Given the description of an element on the screen output the (x, y) to click on. 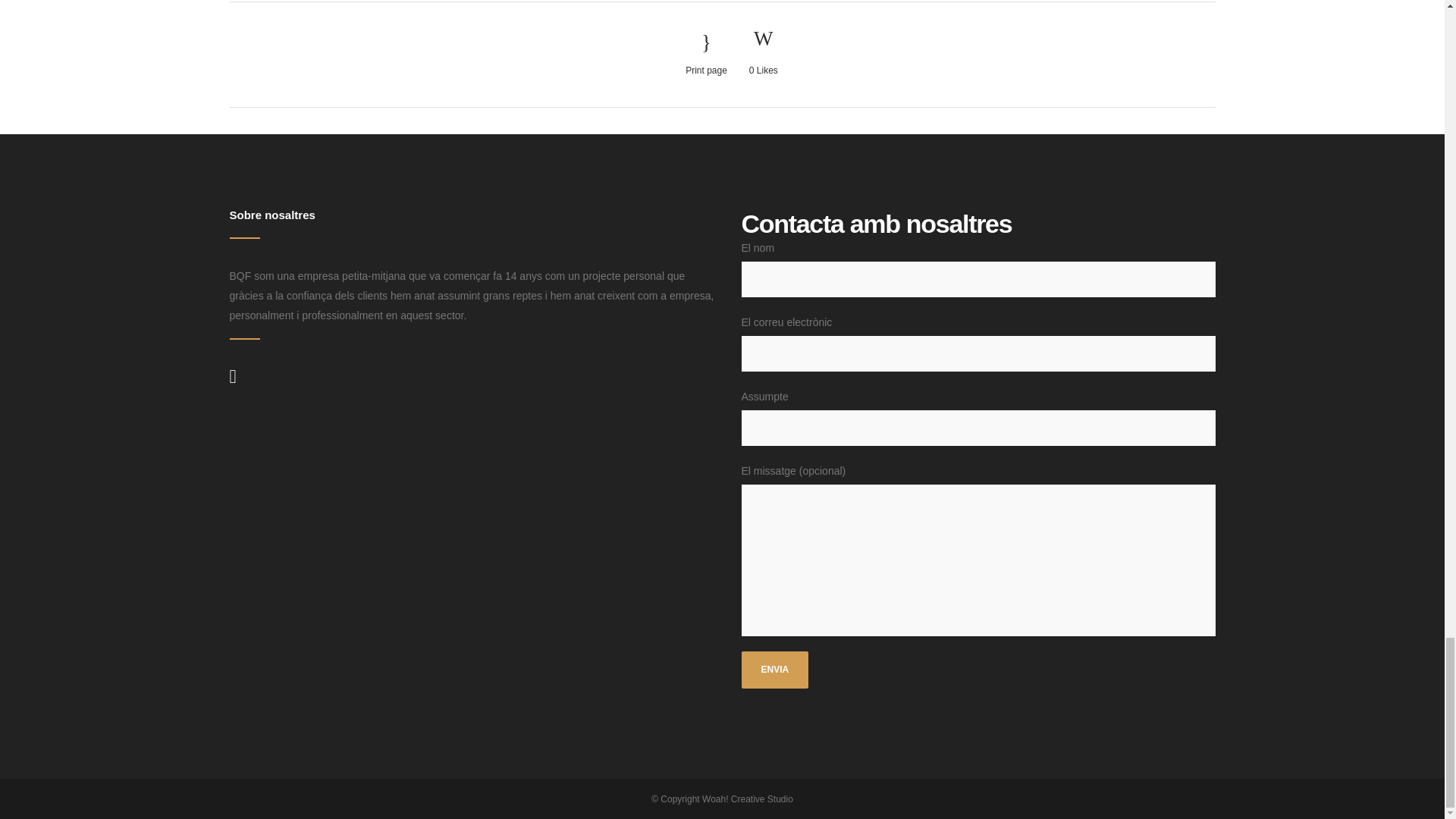
Woah! Creative Studio (747, 798)
Envia (775, 669)
Print page (705, 54)
Envia (775, 669)
